Given the description of an element on the screen output the (x, y) to click on. 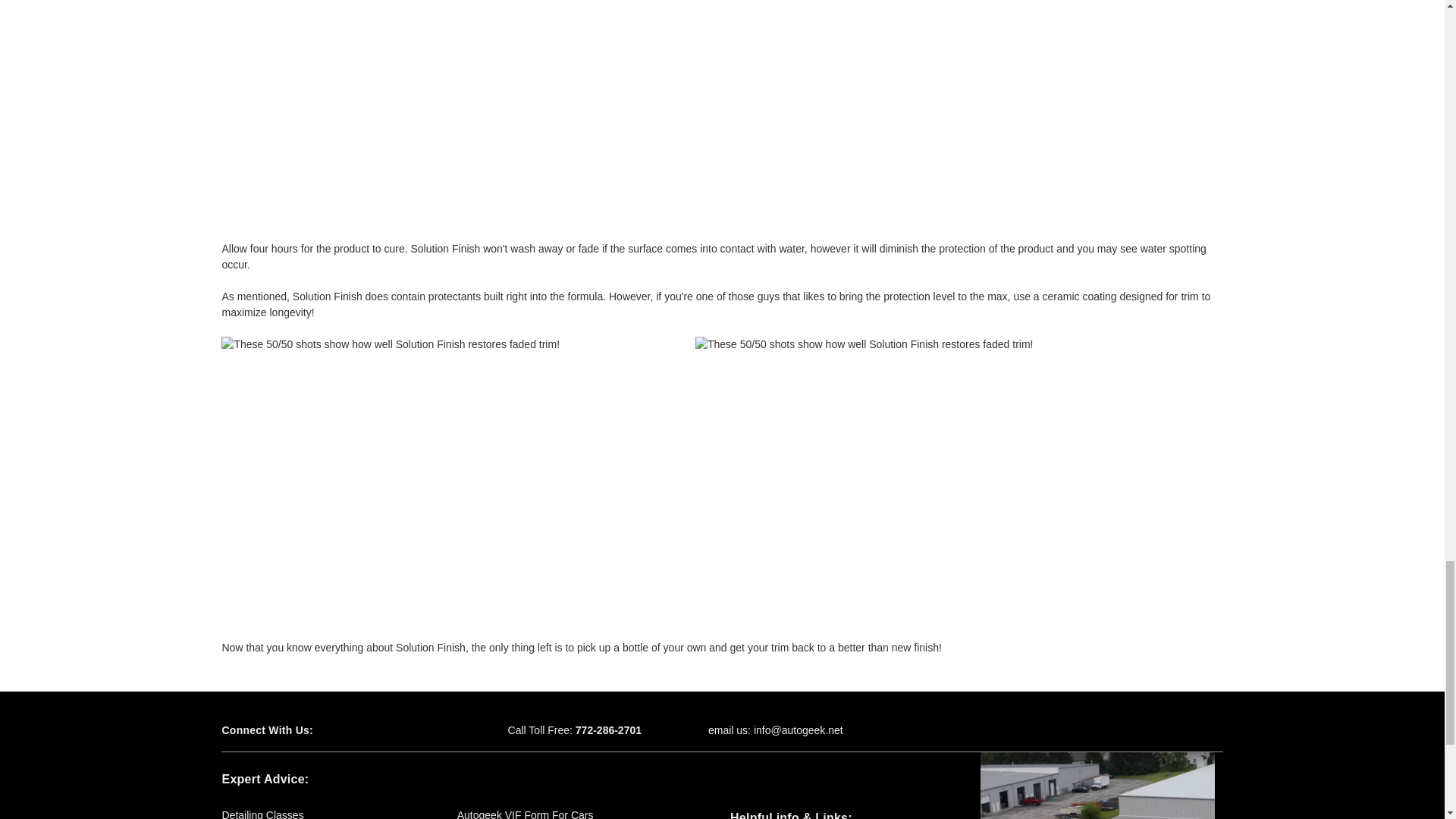
Twitter (379, 730)
Instagram (433, 730)
Youtube (405, 730)
Facebook (351, 730)
